Given the description of an element on the screen output the (x, y) to click on. 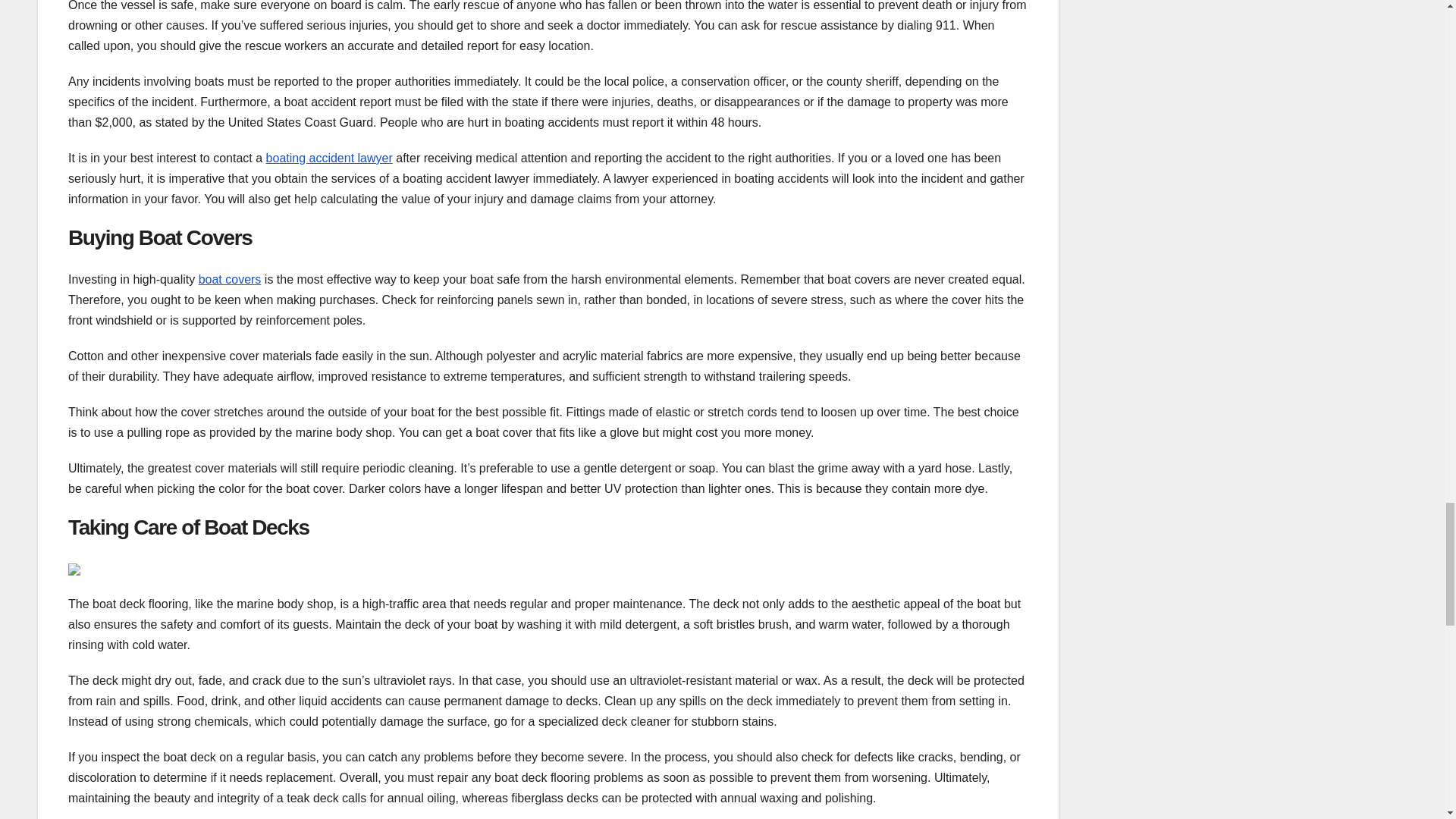
boat covers (230, 278)
boating accident lawyer (329, 157)
